Given the description of an element on the screen output the (x, y) to click on. 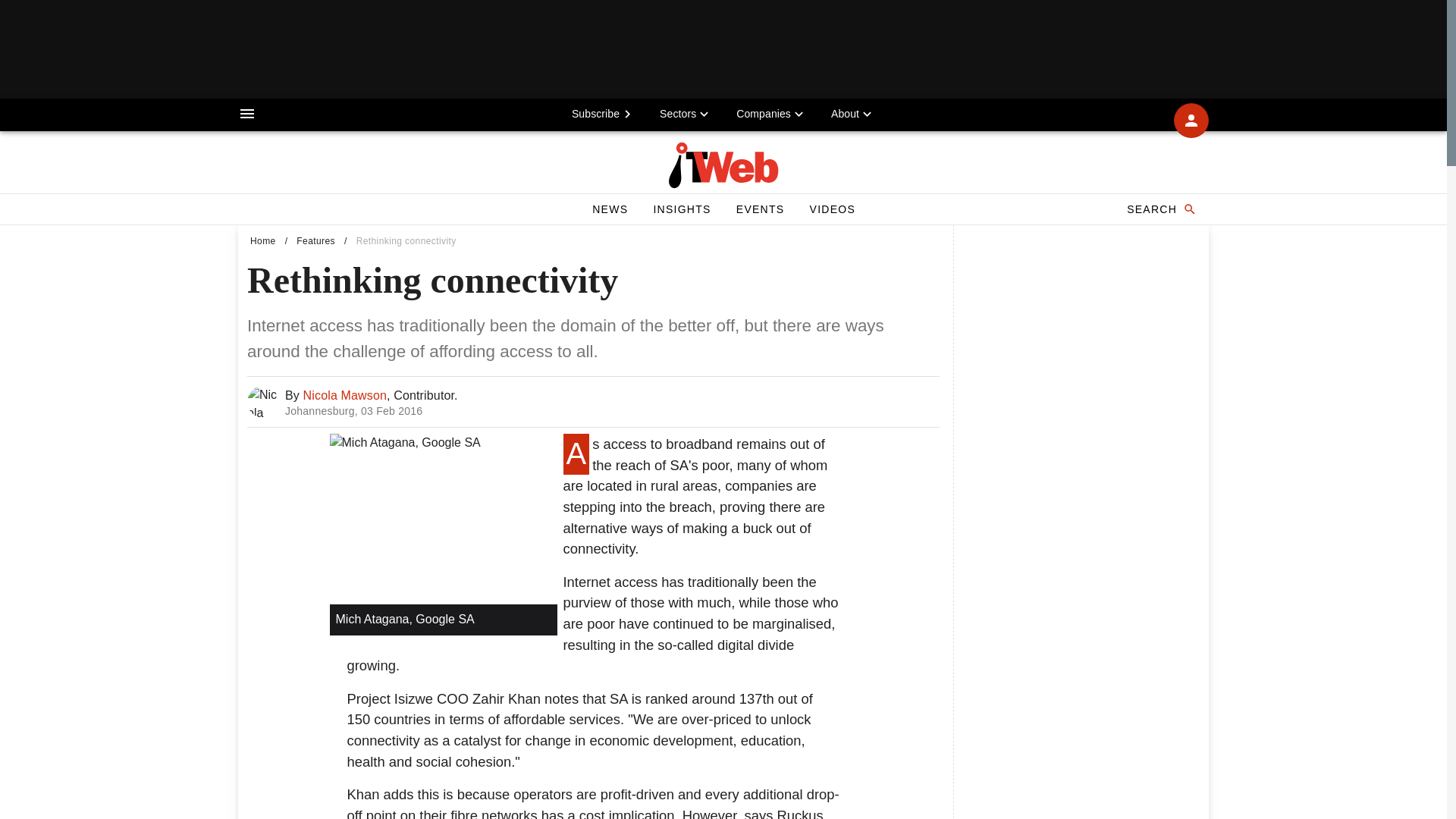
EVENTS (759, 208)
Subscribe (603, 113)
NEWS (609, 208)
Home (263, 241)
INSIGHTS (681, 208)
VIDEOS (831, 208)
Features (593, 401)
SEARCH (315, 241)
